Given the description of an element on the screen output the (x, y) to click on. 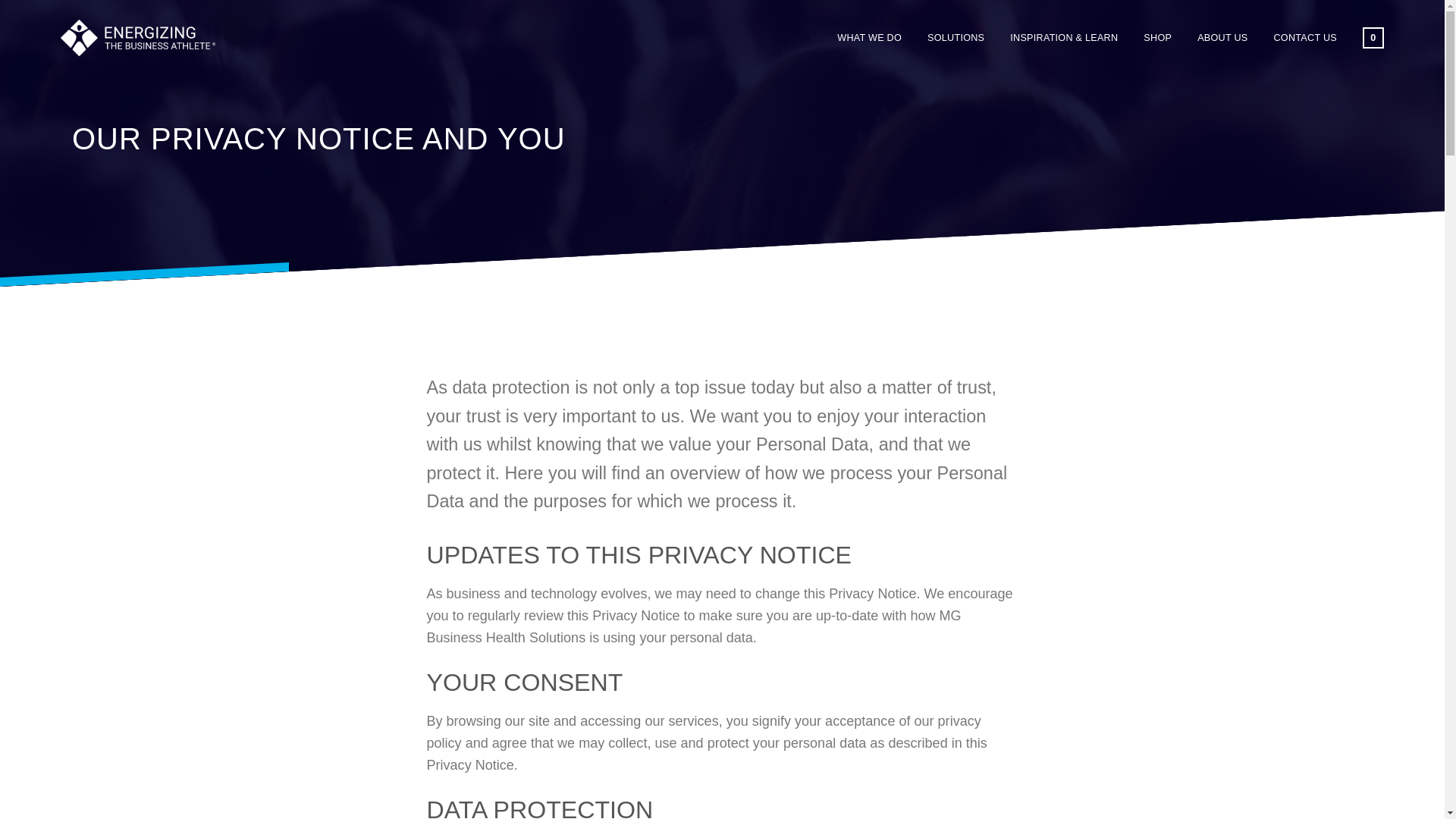
SHOP (1157, 37)
WHAT WE DO (869, 37)
CONTACT US (1305, 37)
ABOUT US (1221, 37)
SOLUTIONS (955, 37)
